Given the description of an element on the screen output the (x, y) to click on. 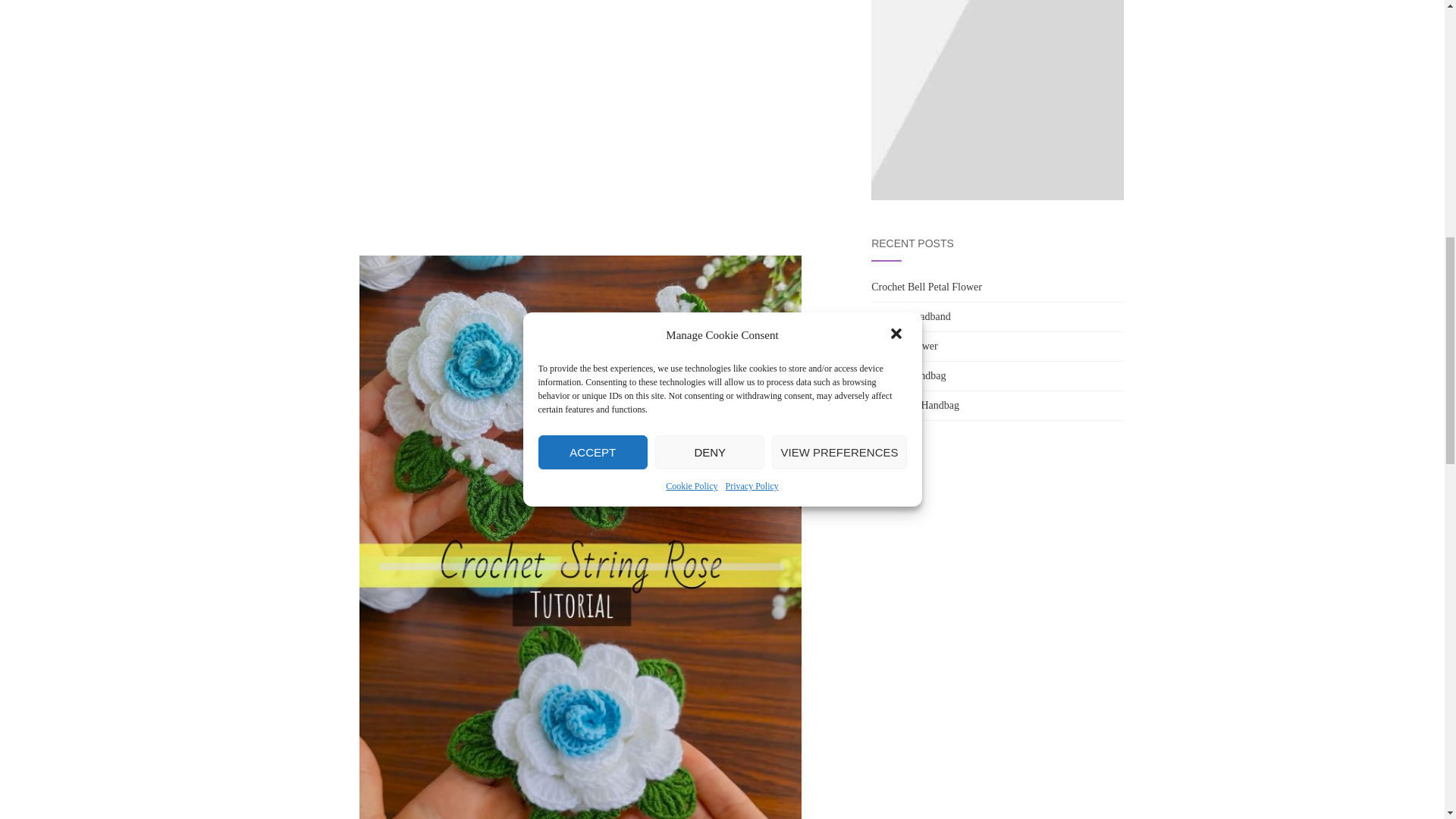
Advertisement (580, 142)
